Given the description of an element on the screen output the (x, y) to click on. 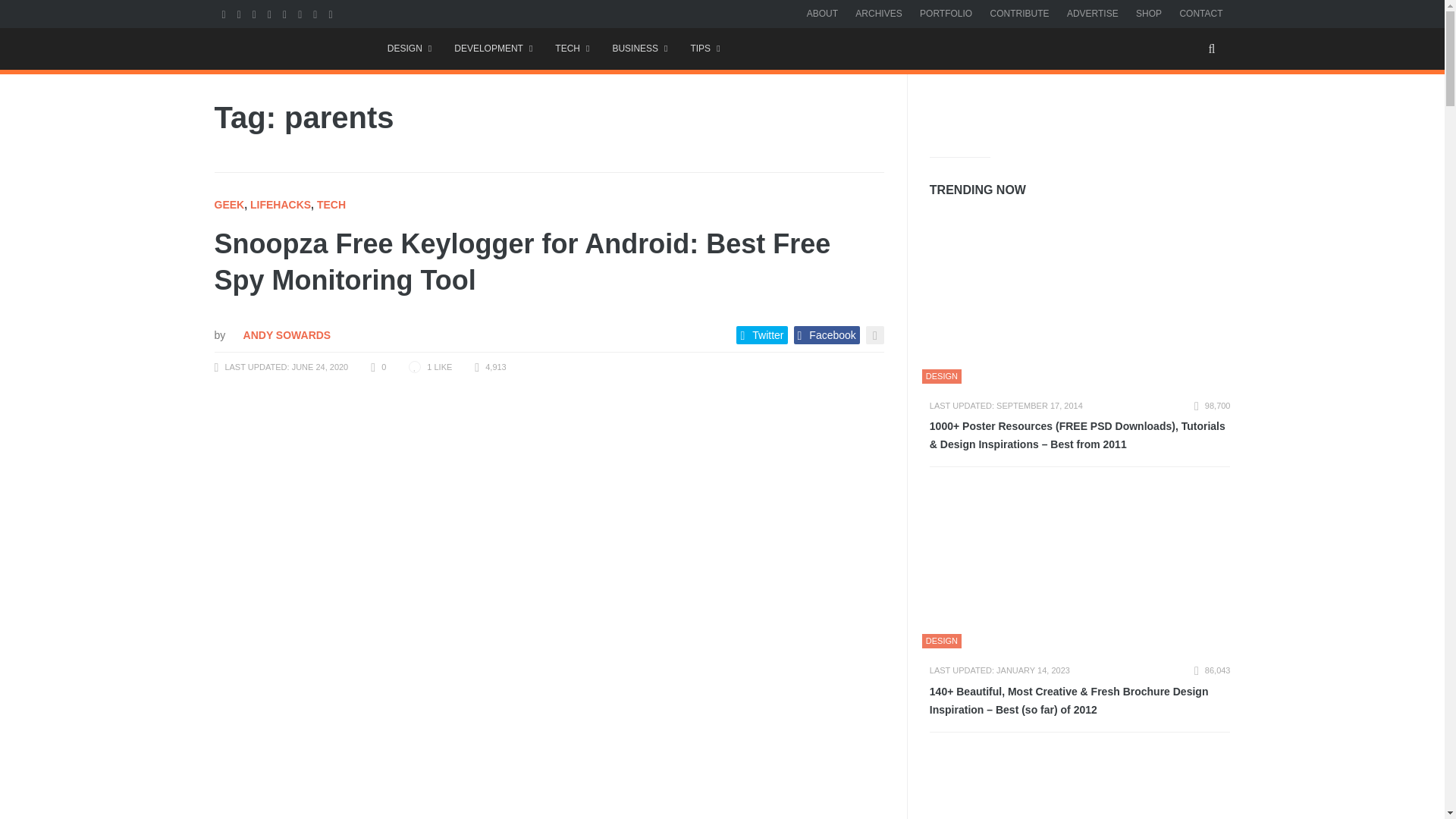
SHOP (1148, 13)
PORTFOLIO (946, 13)
BUSINESS (638, 48)
Design (408, 48)
CONTACT (1201, 13)
ABOUT (822, 13)
ADVERTISE (1092, 13)
DESIGN (408, 48)
ARCHIVES (878, 13)
CONTRIBUTE (1019, 13)
